Given the description of an element on the screen output the (x, y) to click on. 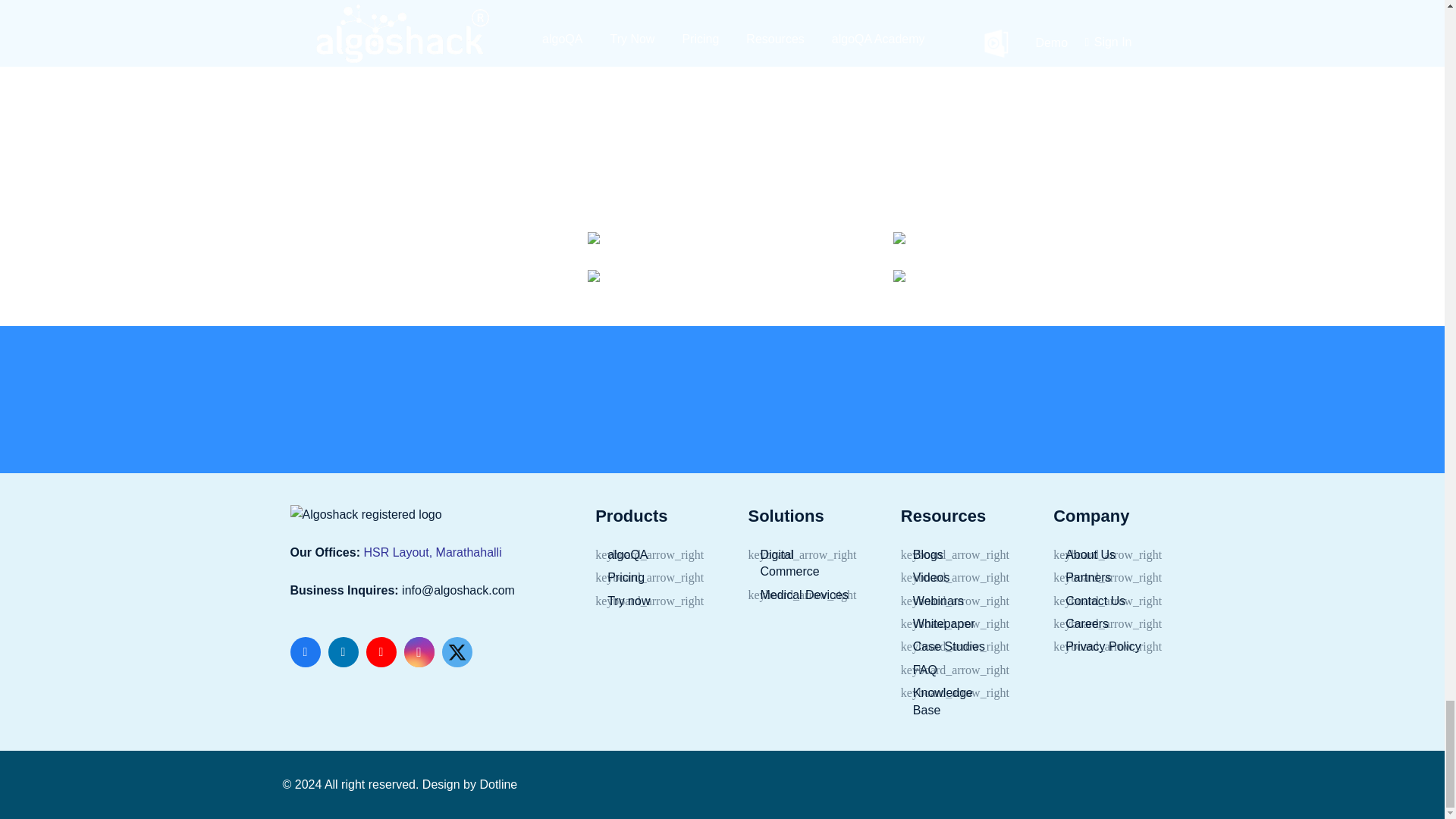
Twitter (456, 652)
Instagram (418, 652)
Facebook (304, 652)
LinkedIn (342, 652)
YouTube (380, 652)
